Given the description of an element on the screen output the (x, y) to click on. 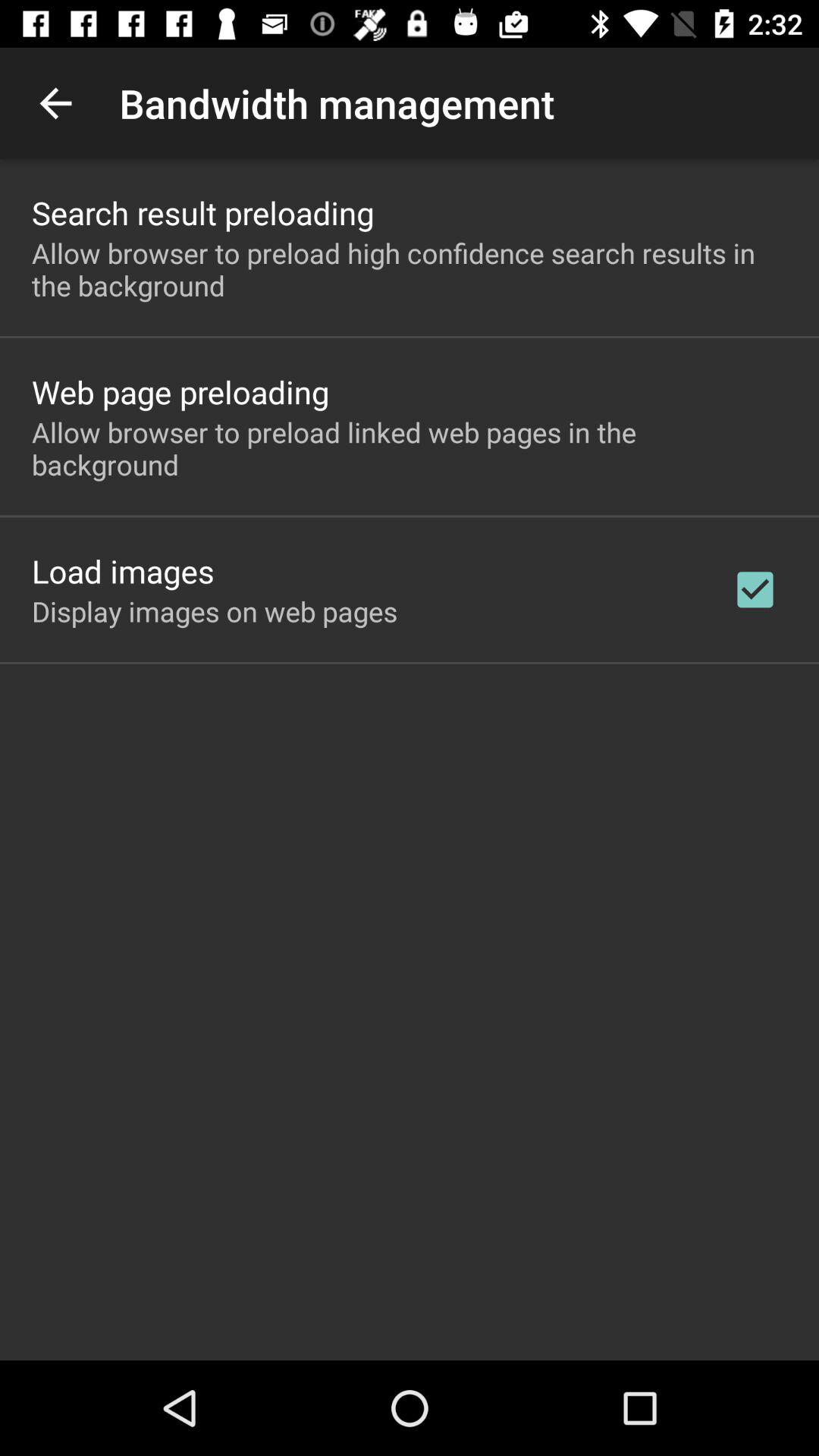
launch the item above search result preloading icon (55, 103)
